Given the description of an element on the screen output the (x, y) to click on. 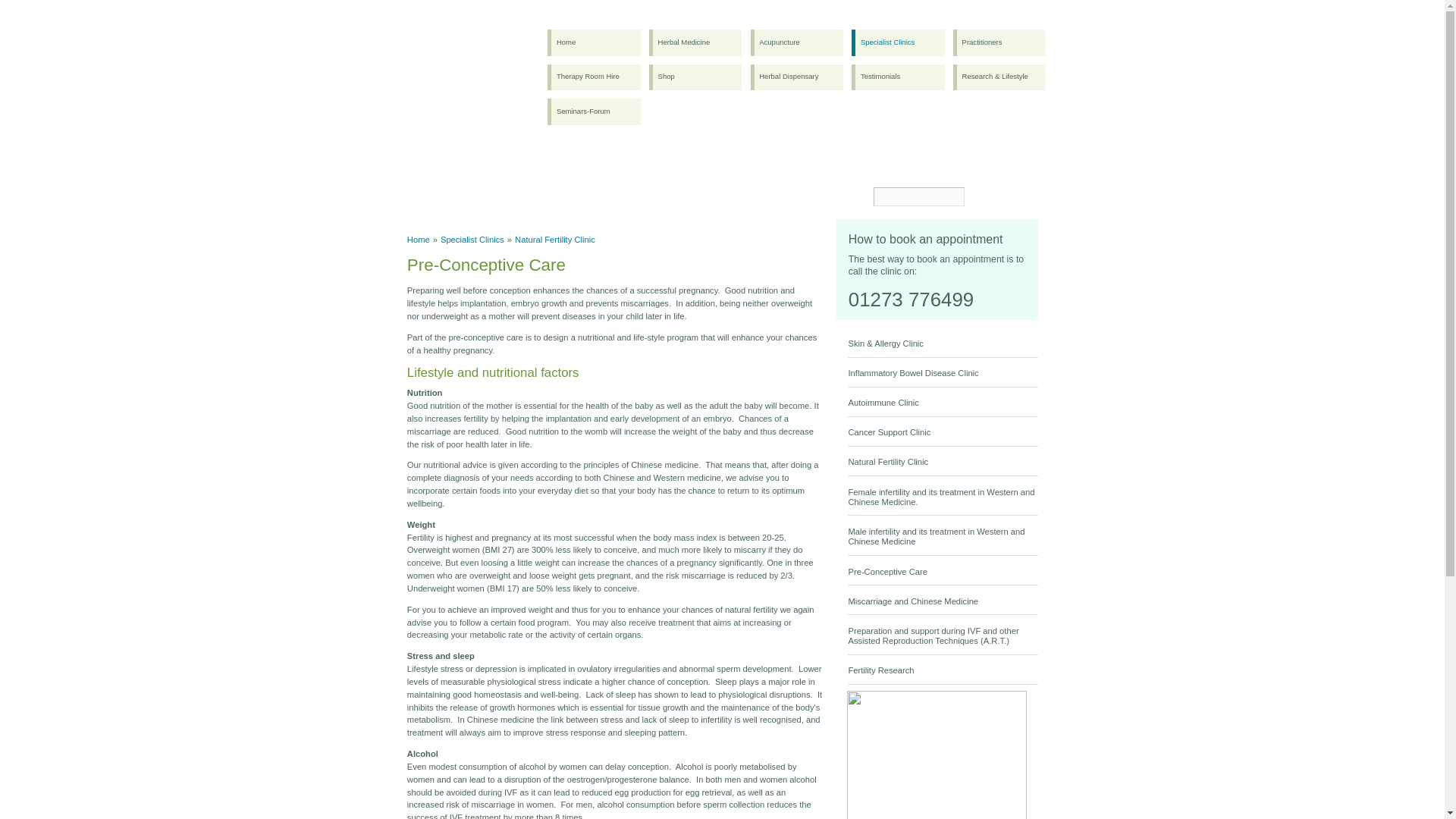
Herbal Medicine (695, 42)
Herbal Medicine (695, 42)
Herbal Dispensary (797, 77)
Acupuncture (797, 42)
Acupuncture (797, 42)
Testimonials (897, 77)
Specialist Clinics (897, 42)
Therapy Room Hire (593, 77)
Home (593, 42)
Avicenna - Centre for Chinese Medicine (467, 46)
